Given the description of an element on the screen output the (x, y) to click on. 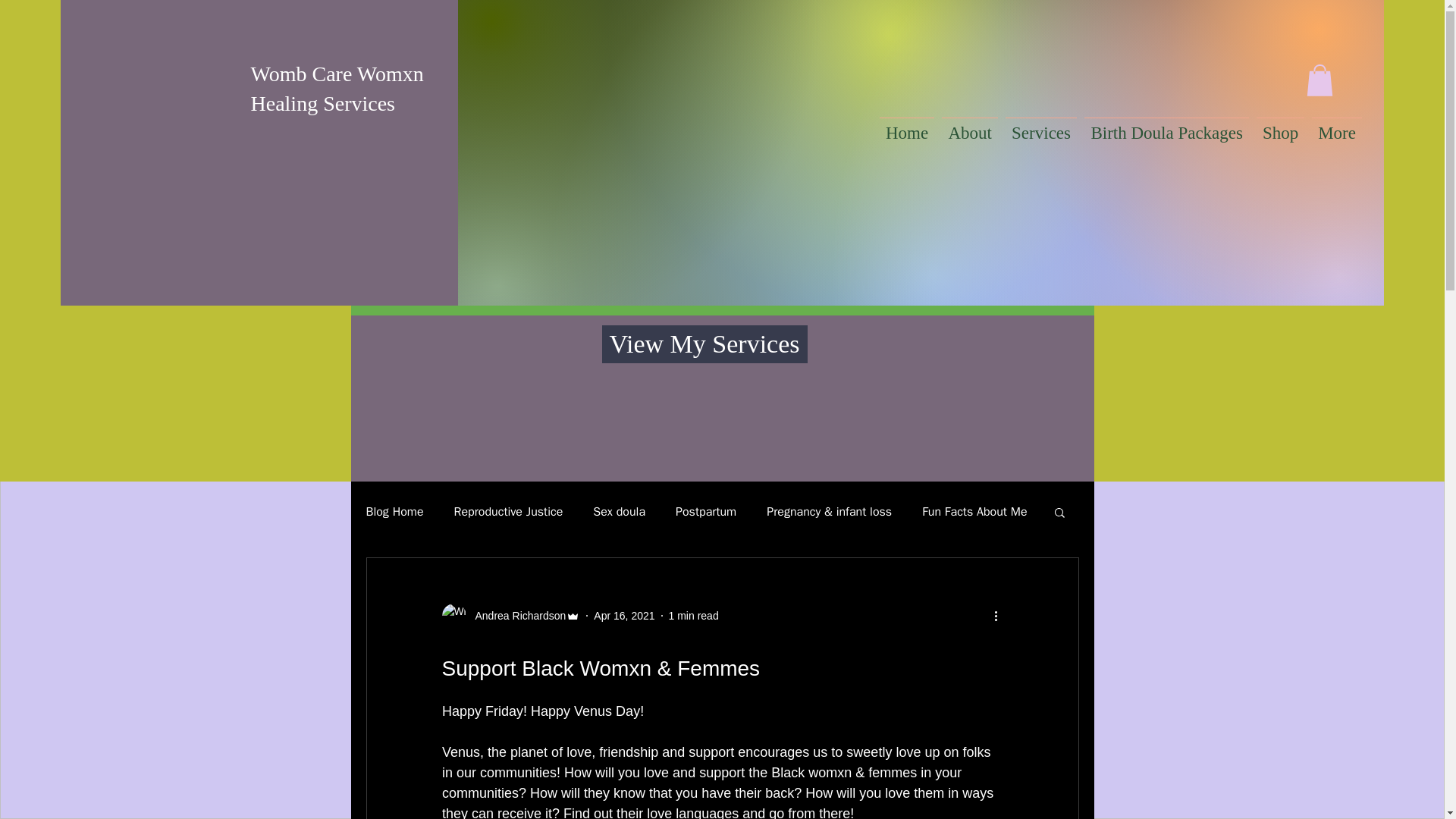
Blog Home (394, 511)
Sex doula (618, 511)
Postpartum (705, 511)
Apr 16, 2021 (623, 615)
Reproductive Justice (508, 511)
Fun Facts About Me (973, 511)
Birth Doula Packages (1166, 126)
View My Services (705, 344)
About (969, 126)
1 min read (693, 615)
